Given the description of an element on the screen output the (x, y) to click on. 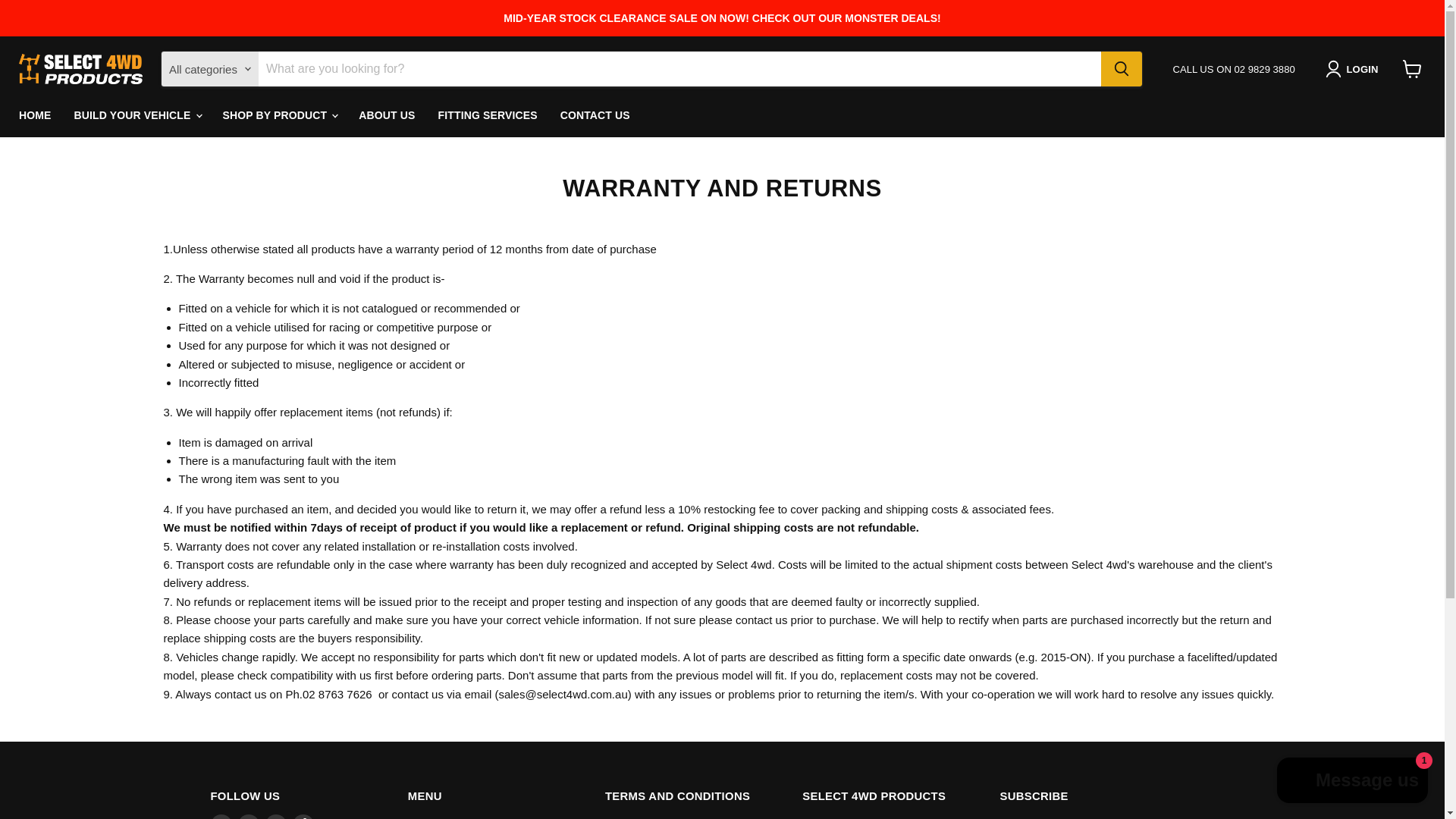
HOME (34, 115)
Instagram (275, 816)
Email (221, 816)
Facebook (248, 816)
LOGIN (1354, 68)
Shopify online store chat (1352, 781)
TikTok (303, 816)
View cart (1411, 68)
